Given the description of an element on the screen output the (x, y) to click on. 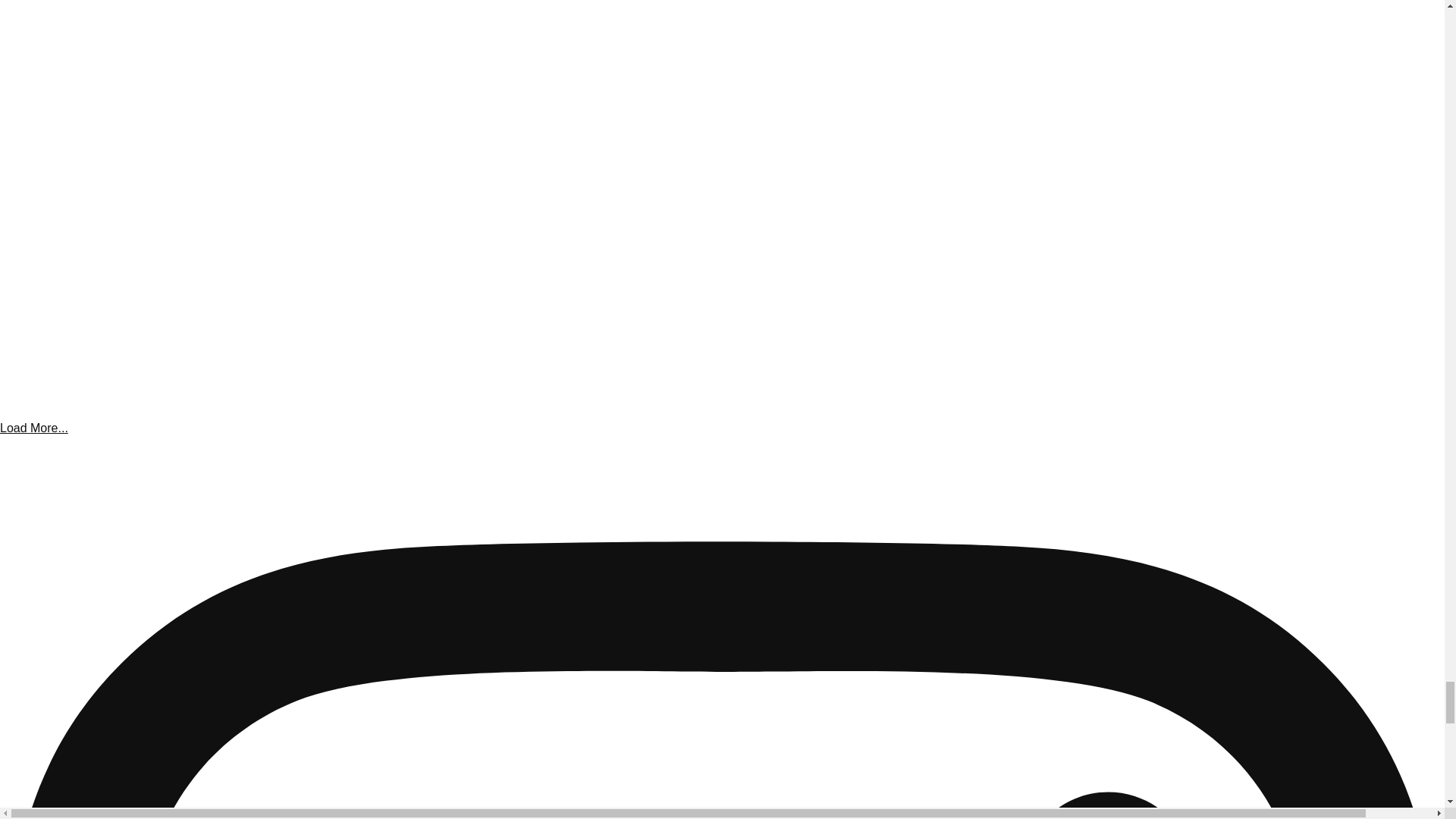
Load More... (34, 427)
